Given the description of an element on the screen output the (x, y) to click on. 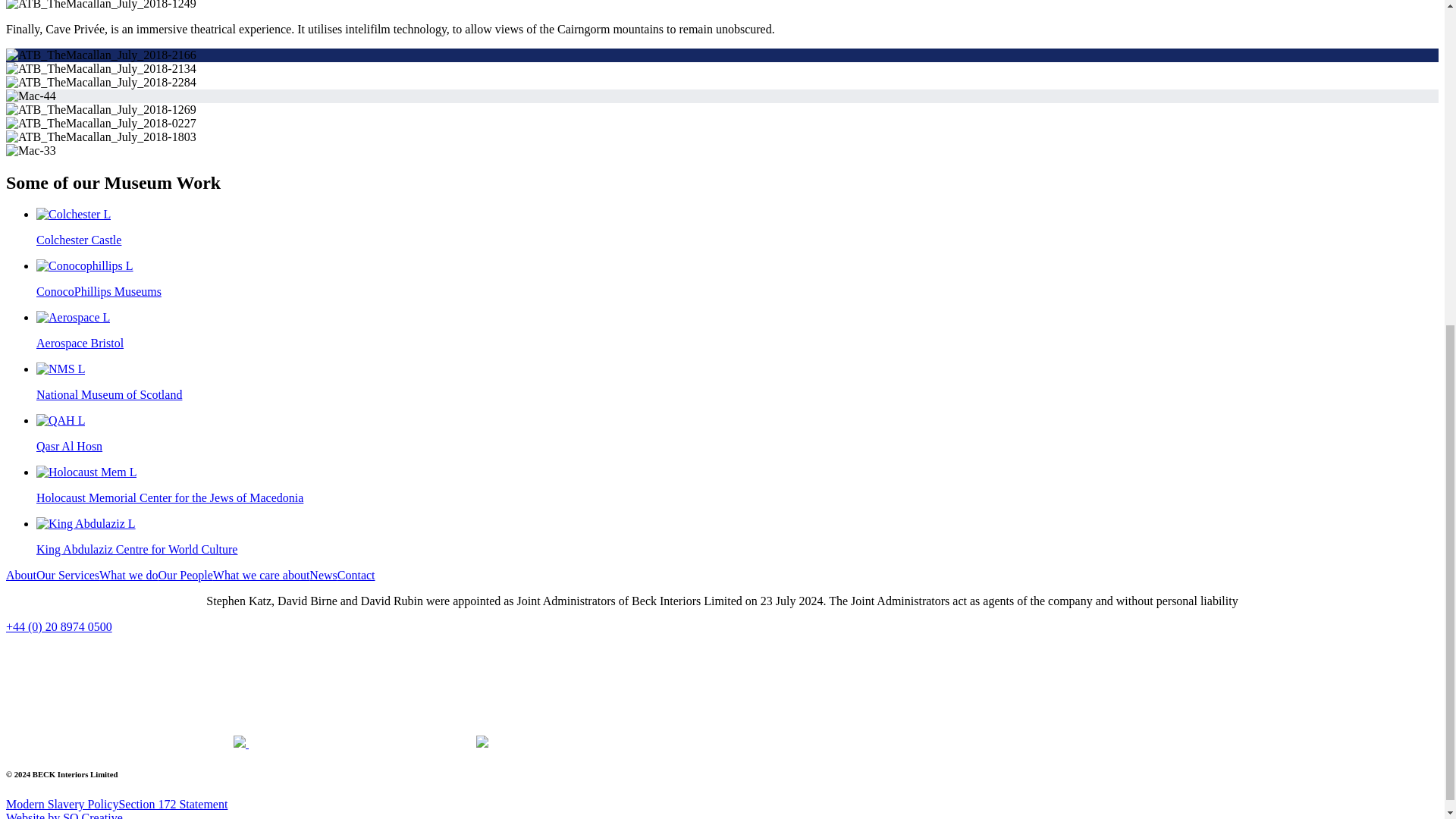
Modern Slavery Policy (61, 803)
Our People (184, 574)
Section 172 Statement (172, 803)
What we do (128, 574)
Our Services (67, 574)
About (20, 574)
News (322, 574)
What we care about (260, 574)
Contact (356, 574)
